Given the description of an element on the screen output the (x, y) to click on. 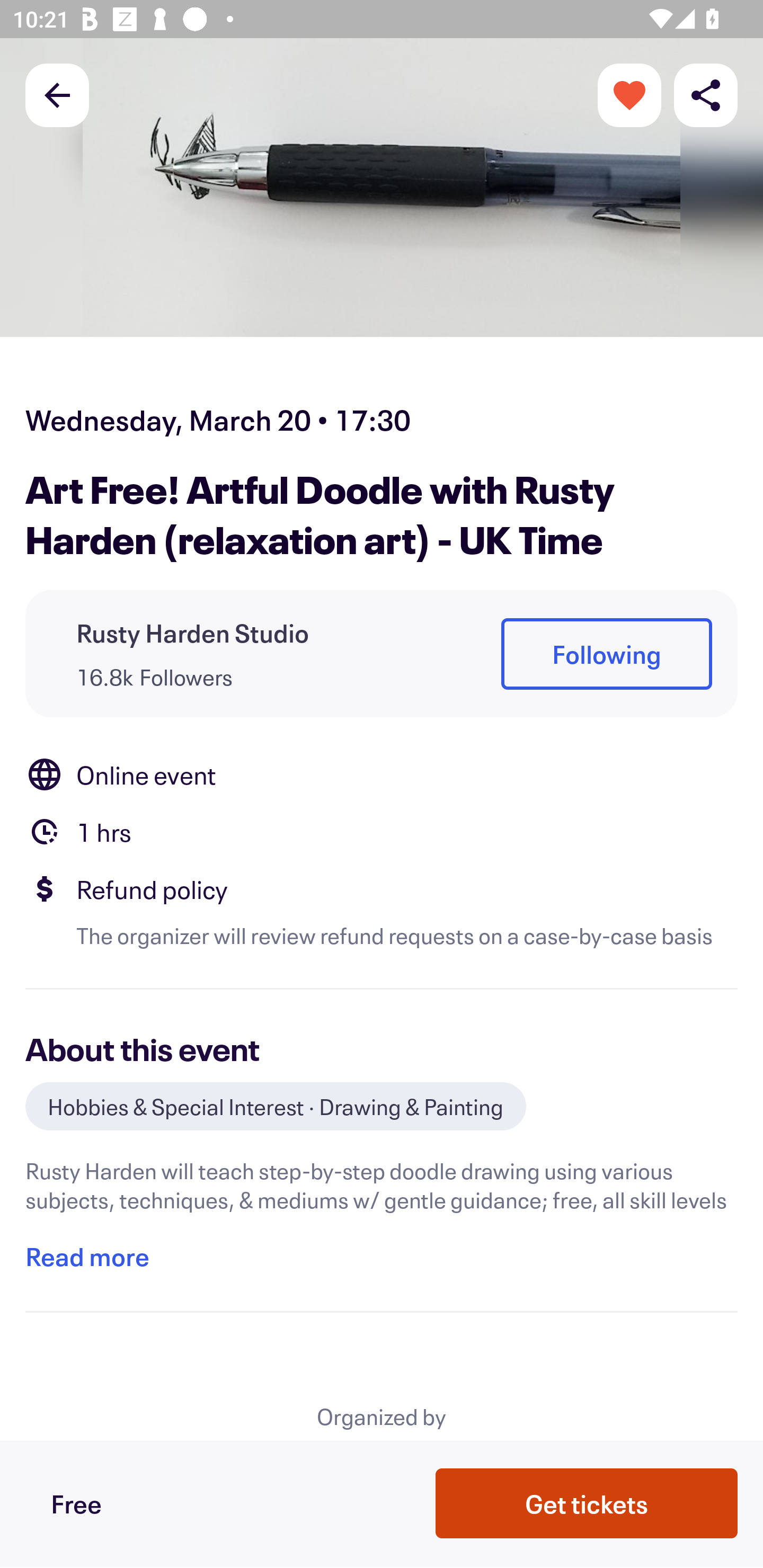
Back (57, 94)
More (629, 94)
Share (705, 94)
Rusty Harden Studio (192, 632)
Following (606, 654)
Location Online event (381, 774)
Read more (87, 1256)
Get tickets (586, 1502)
